Given the description of an element on the screen output the (x, y) to click on. 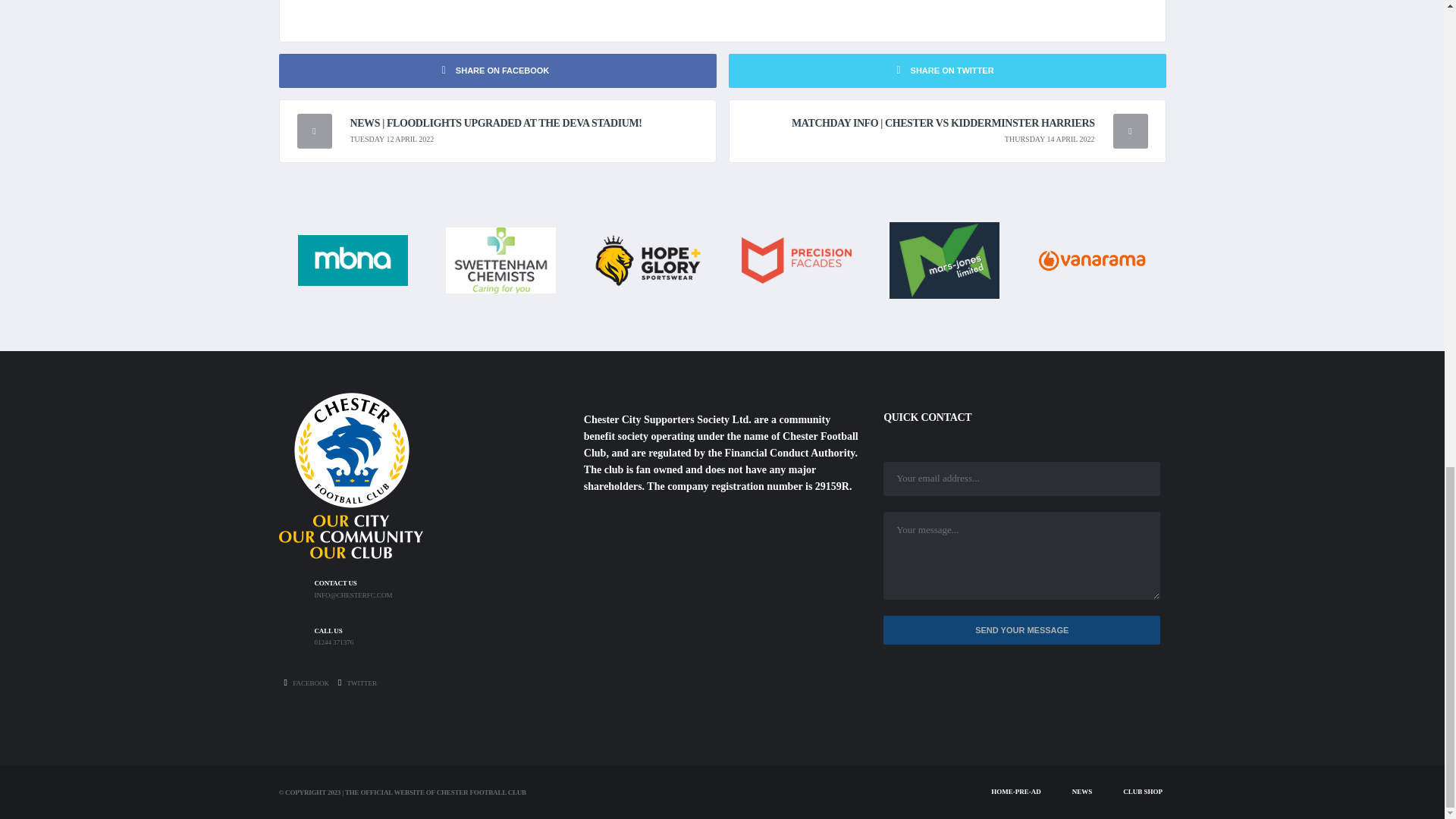
Send Your Message (1021, 630)
